Given the description of an element on the screen output the (x, y) to click on. 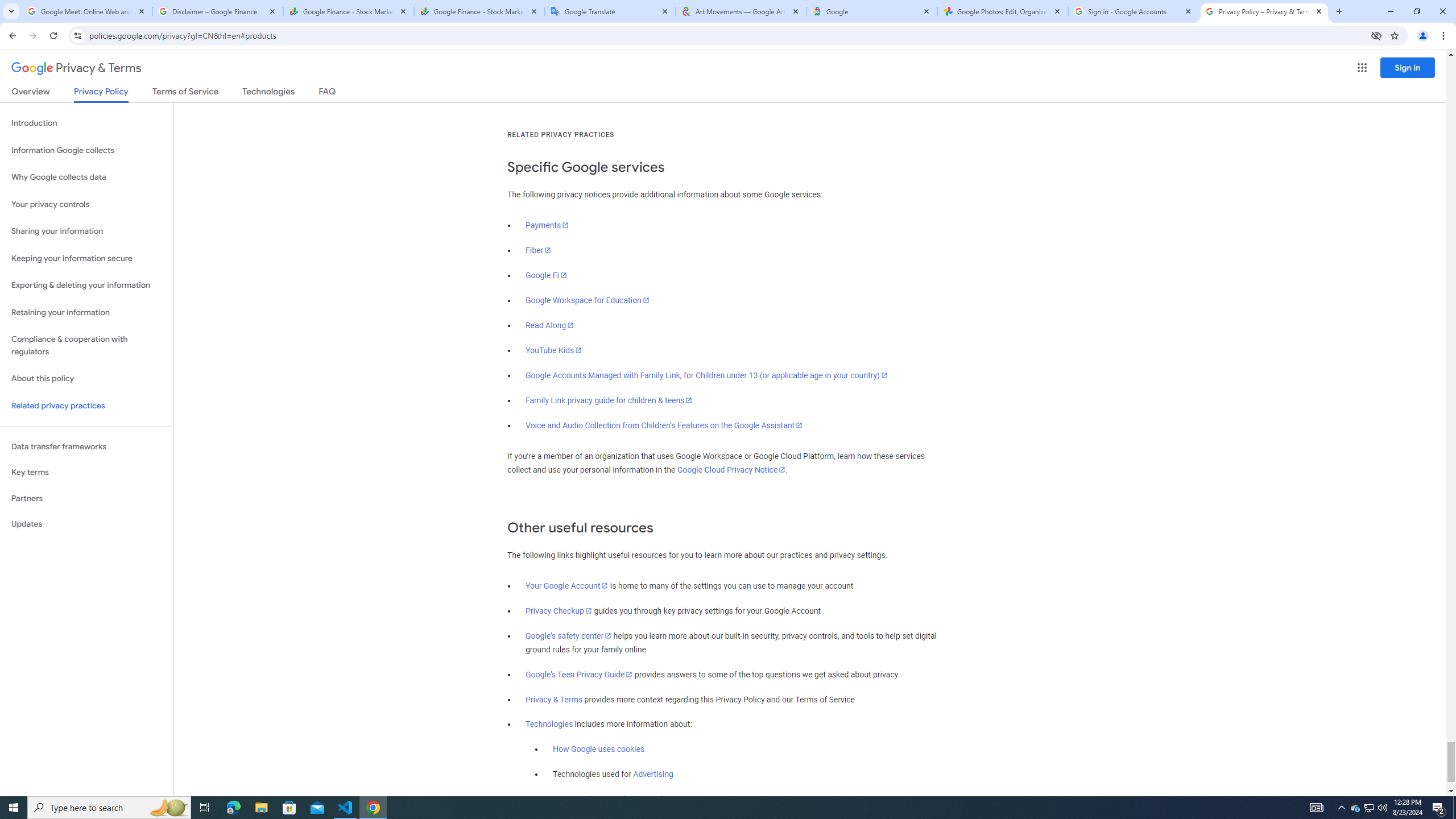
Retaining your information (86, 312)
Related privacy practices (86, 405)
Read Along (550, 325)
Key terms (86, 472)
